Given the description of an element on the screen output the (x, y) to click on. 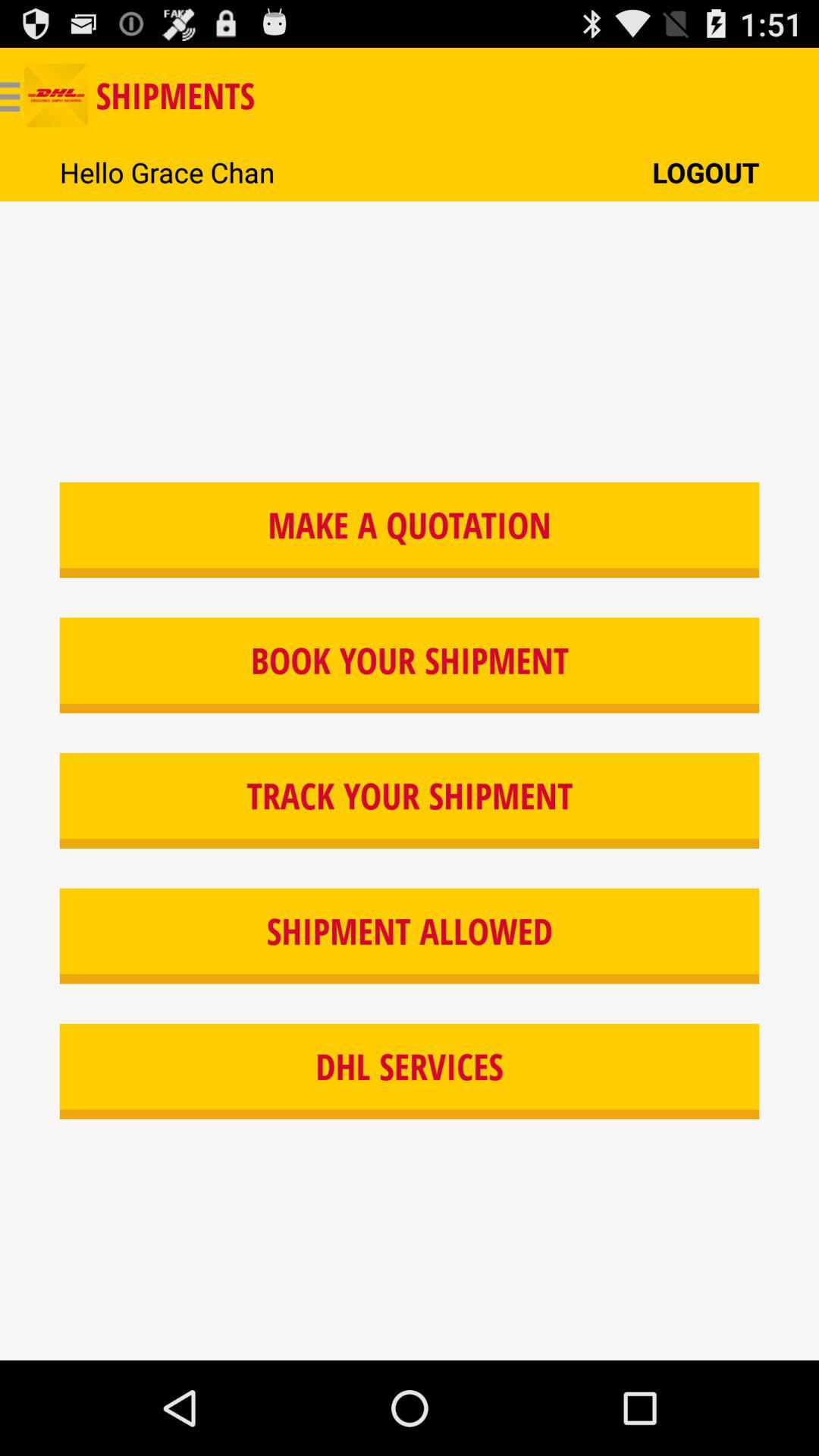
press the dhl services button (409, 1071)
